Given the description of an element on the screen output the (x, y) to click on. 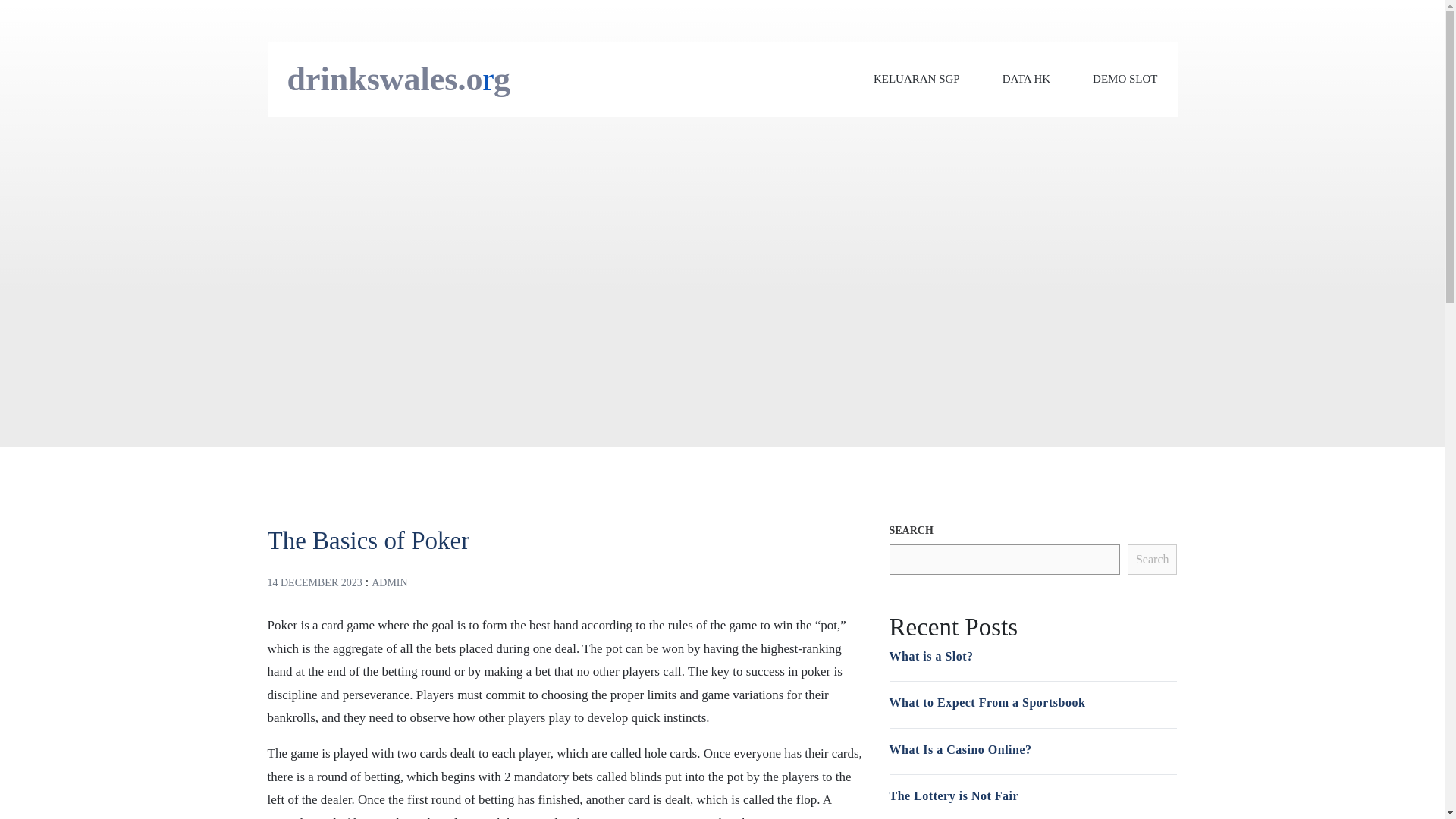
DATA HK (1026, 78)
ADMIN (389, 582)
KELUARAN SGP (916, 78)
What Is a Casino Online? (959, 748)
DEMO SLOT (1125, 78)
What to Expect From a Sportsbook (986, 702)
The Lottery is Not Fair (952, 795)
14 DECEMBER 2023 (313, 582)
Search (1151, 559)
drinkswales.org (398, 78)
